Given the description of an element on the screen output the (x, y) to click on. 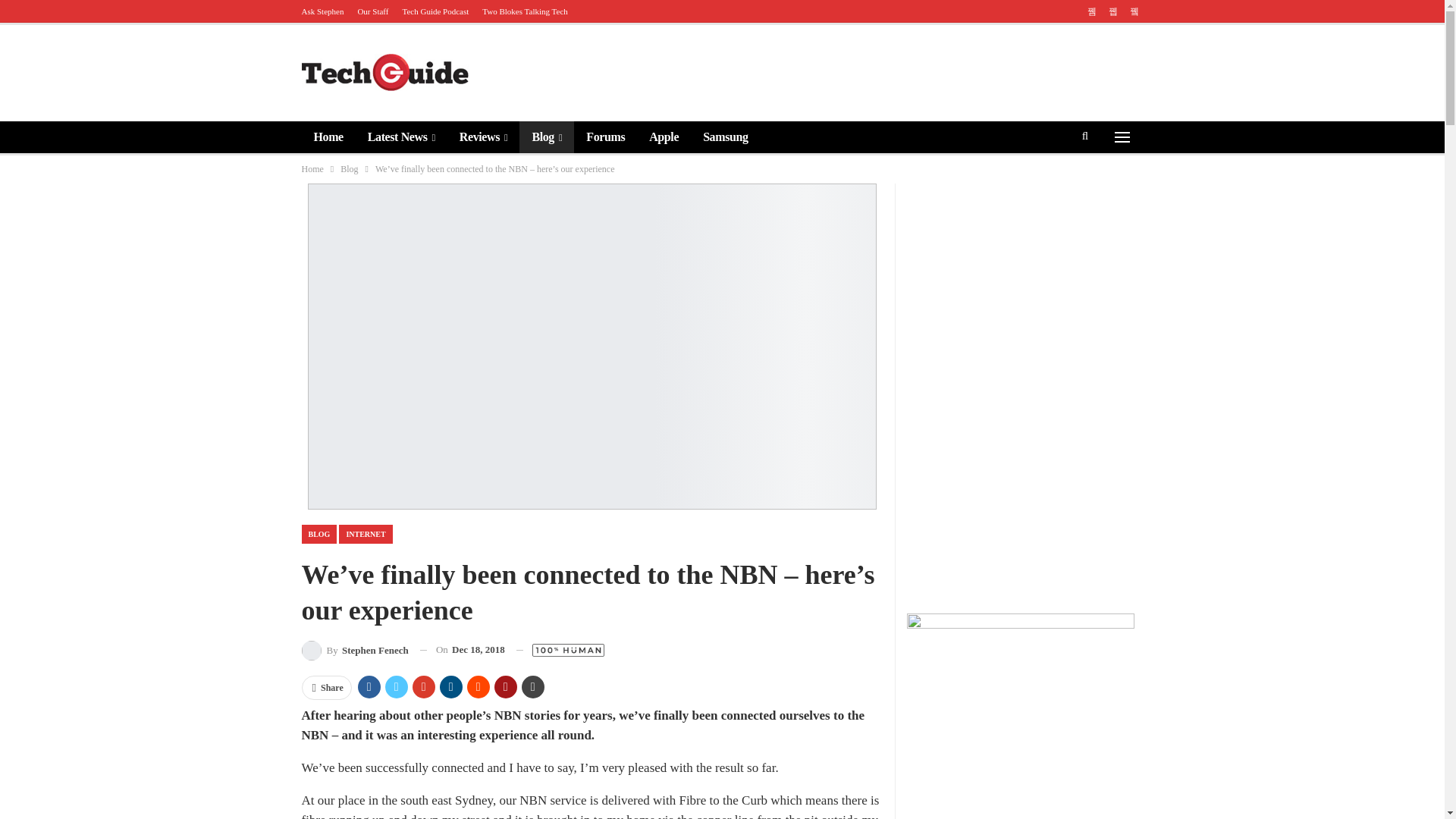
Two Blokes Talking Tech (524, 10)
Our Staff (372, 10)
Tech Guide Podcast (434, 10)
Latest News (400, 137)
Ask Stephen (322, 10)
Home (328, 137)
Browse Author Articles (355, 649)
